Given the description of an element on the screen output the (x, y) to click on. 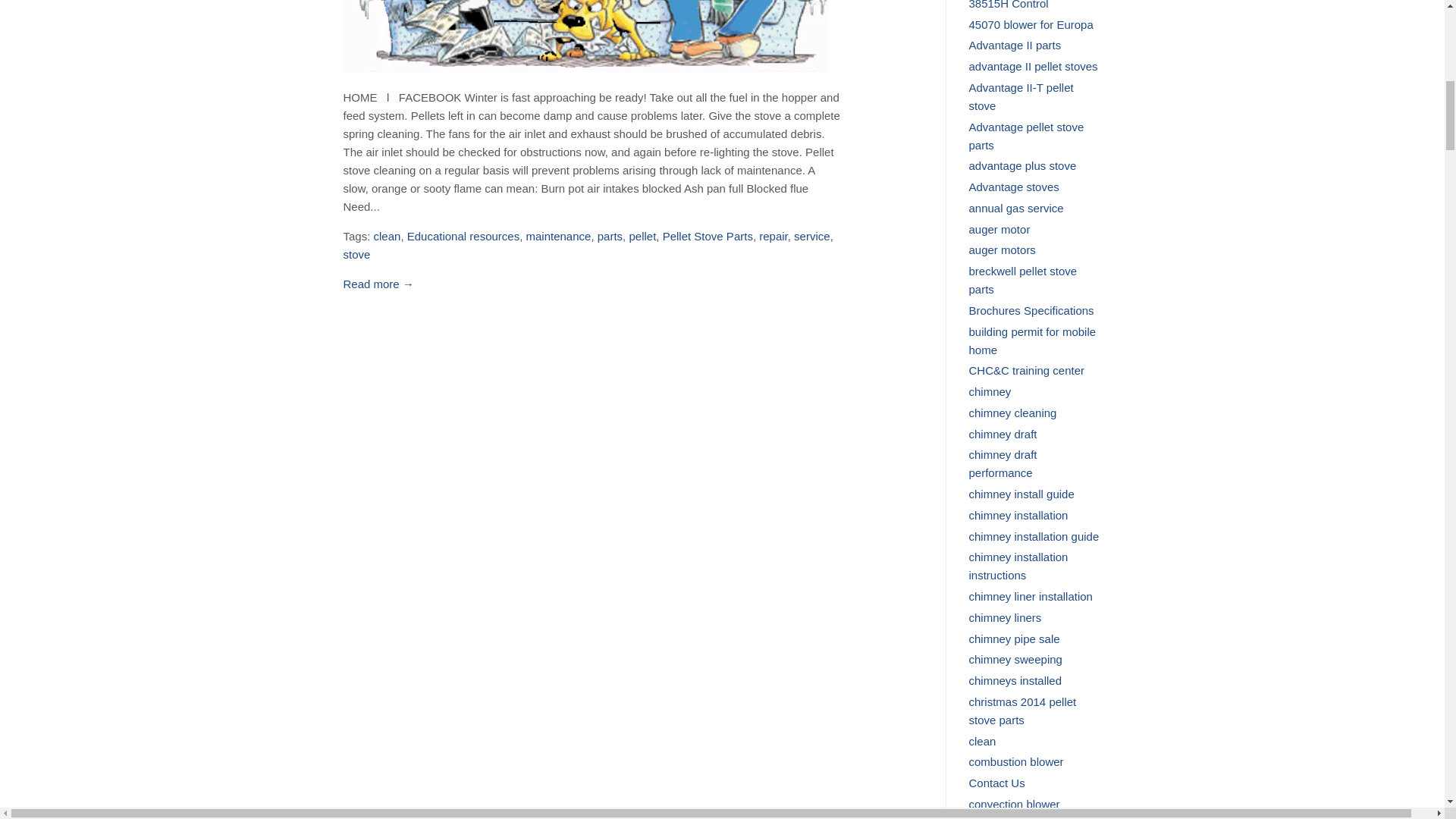
Show articles tagged 45070 blower for Europa (1031, 24)
Show articles tagged Advantage II parts (1015, 44)
Show articles tagged Advantage stoves (1014, 186)
Show articles tagged Advantage pellet stove parts (1026, 135)
Show articles tagged 38515H Control (1008, 4)
Show articles tagged advantage II pellet stoves (1033, 65)
Show articles tagged advantage plus stove (1023, 164)
Show articles tagged Advantage II-T pellet stove (1021, 96)
